Given the description of an element on the screen output the (x, y) to click on. 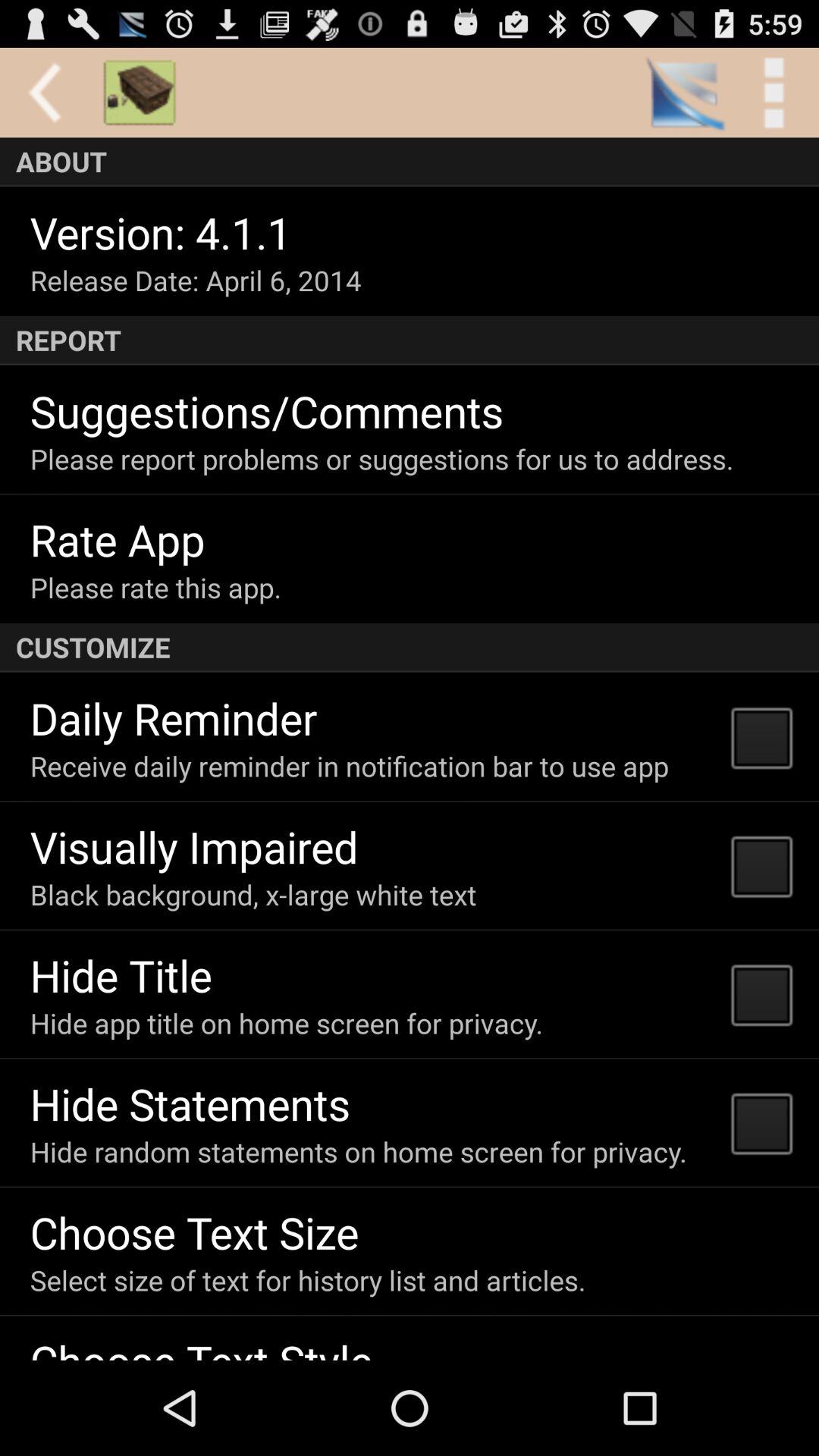
swipe to please rate this app (155, 587)
